Given the description of an element on the screen output the (x, y) to click on. 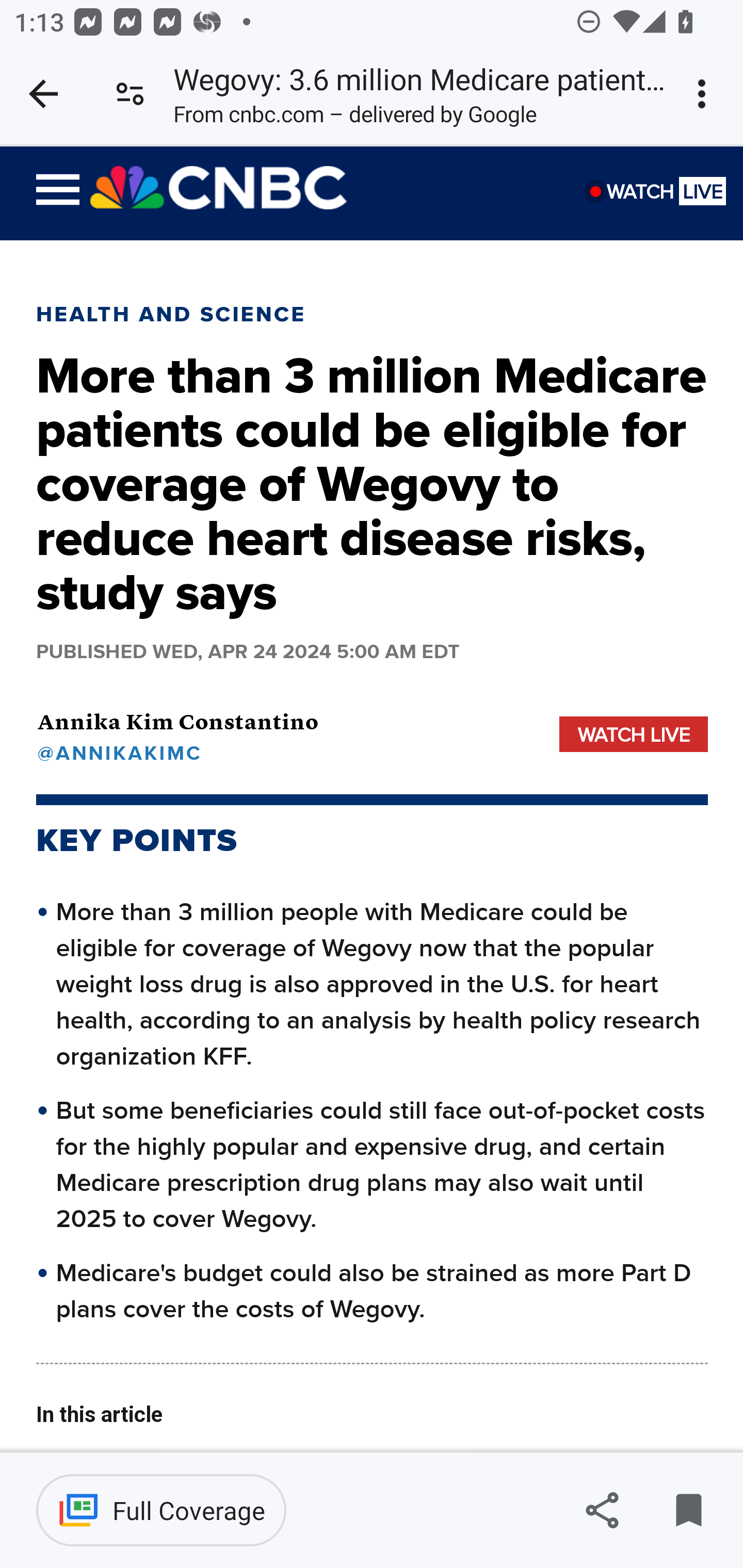
Close tab (43, 93)
Customize and control Google Chrome (705, 93)
Connection is secure (129, 93)
From cnbc.com – delivered by Google (355, 117)
menu icon (58, 192)
header logo image (219, 188)
WATCH LIVE WATCH  LIVE (665, 201)
HEALTH AND SCIENCE (171, 313)
WATCH LIVE (633, 733)
@ANNIKAKIMC (177, 752)
Full Coverage (161, 1509)
Share (601, 1510)
Remove from saved stories (688, 1510)
